Given the description of an element on the screen output the (x, y) to click on. 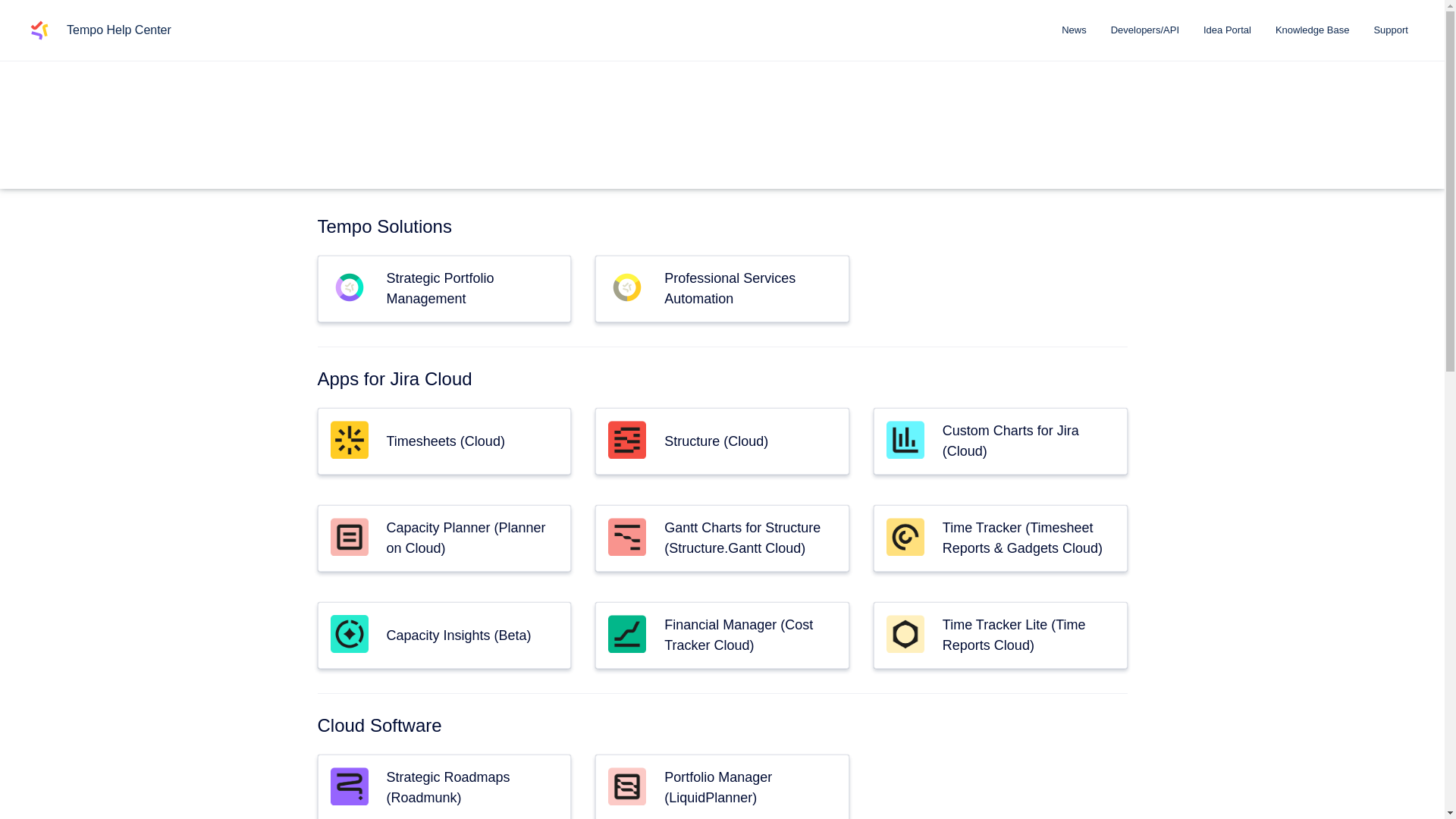
News (1074, 29)
Idea Portal (1227, 29)
Go to homepage (39, 30)
Professional Services Automation (728, 288)
Strategic Portfolio Management (441, 288)
Support (1391, 29)
Tempo Help Center (118, 29)
Knowledge Base (1312, 29)
